Given the description of an element on the screen output the (x, y) to click on. 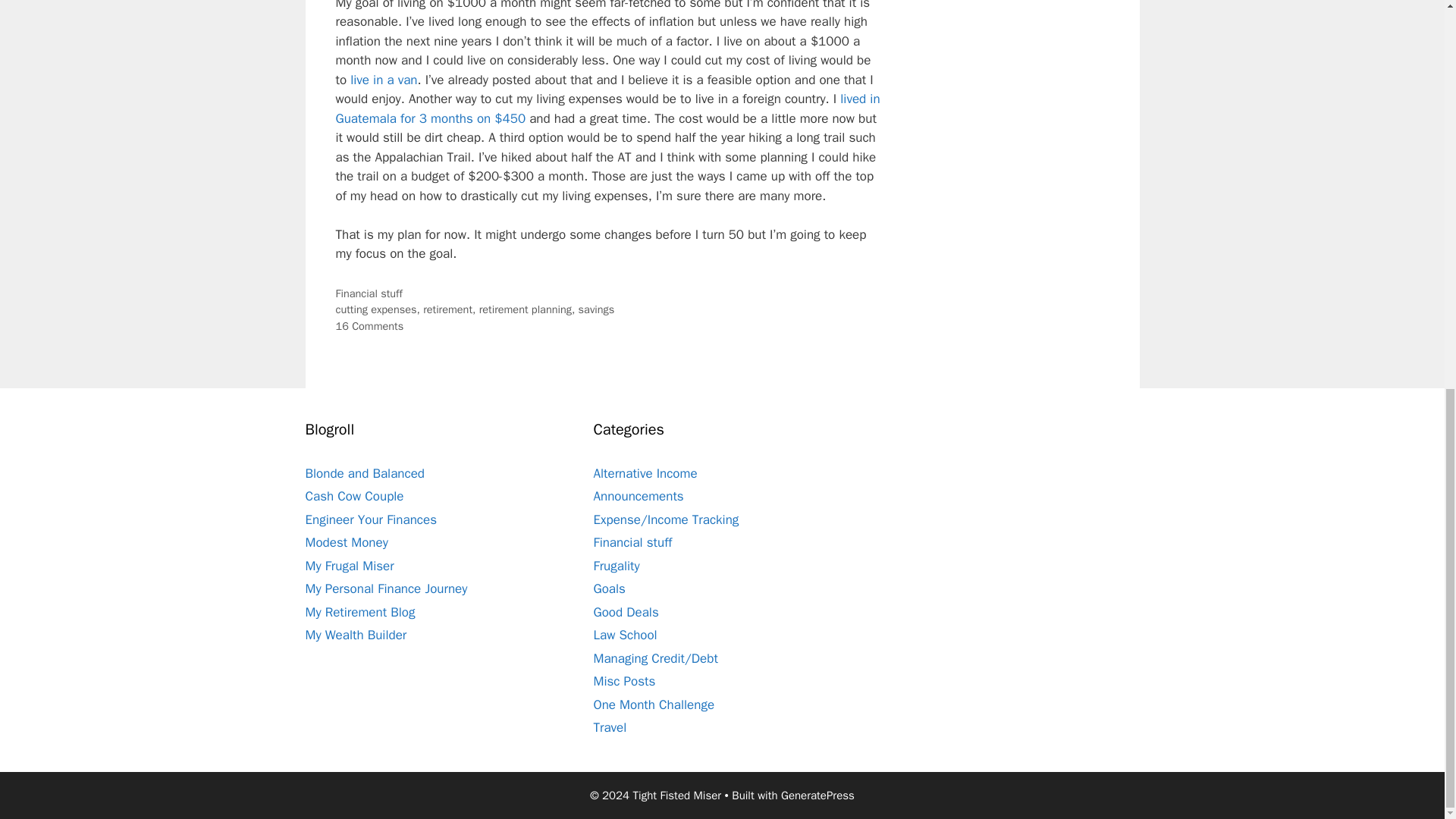
Frugality (615, 565)
My Wealth Builder (355, 634)
Good Deals (625, 611)
Goals (608, 588)
live in a van (383, 79)
Modest Money (345, 542)
16 Comments (368, 325)
retirement planning (525, 309)
Cash Cow Couple (353, 496)
Alternative Income (644, 473)
